Given the description of an element on the screen output the (x, y) to click on. 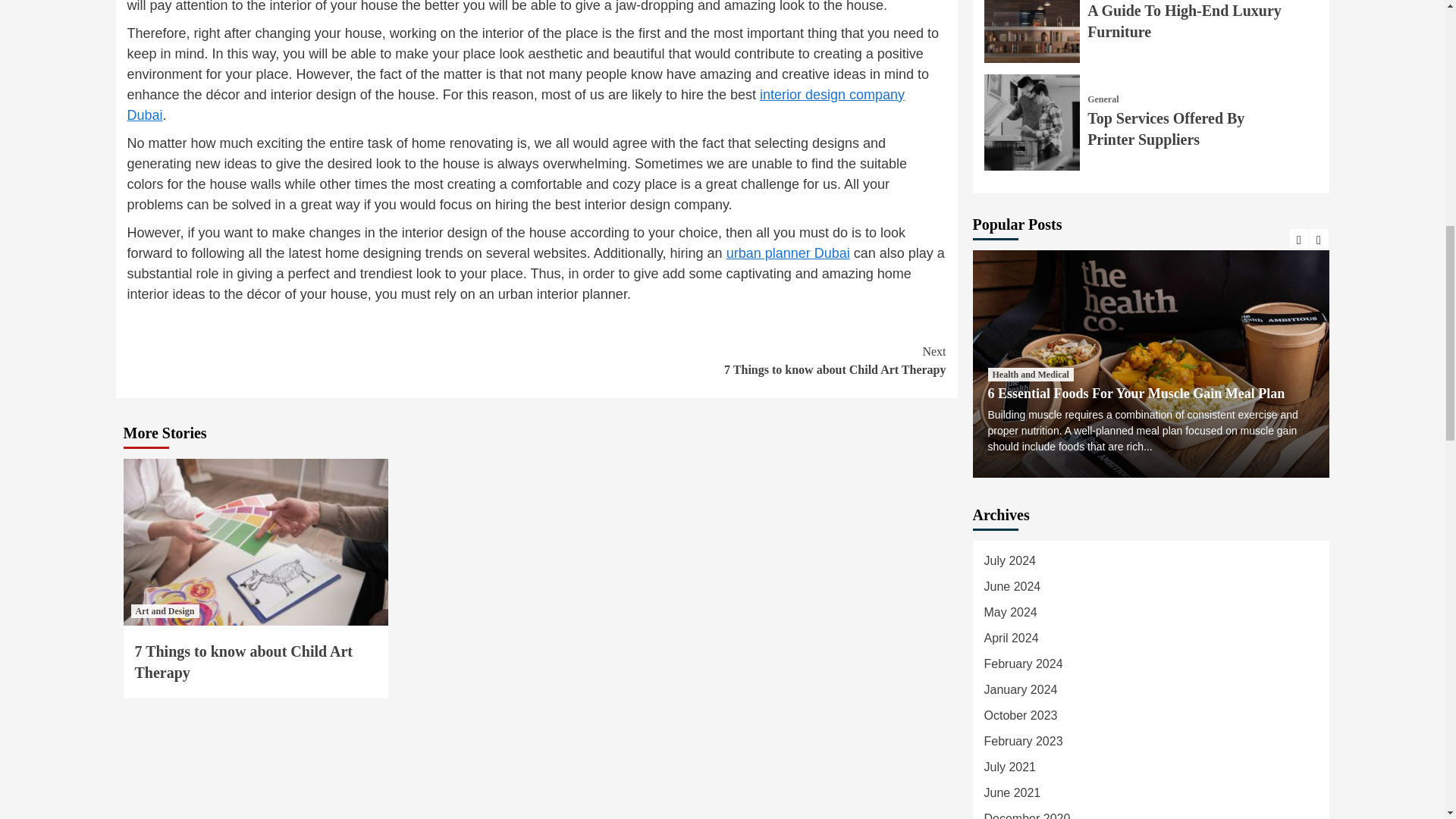
Art and Design (164, 611)
7 Things to know about Child Art Therapy (244, 661)
urban planner Dubai (788, 253)
interior design company Dubai (741, 361)
